Given the description of an element on the screen output the (x, y) to click on. 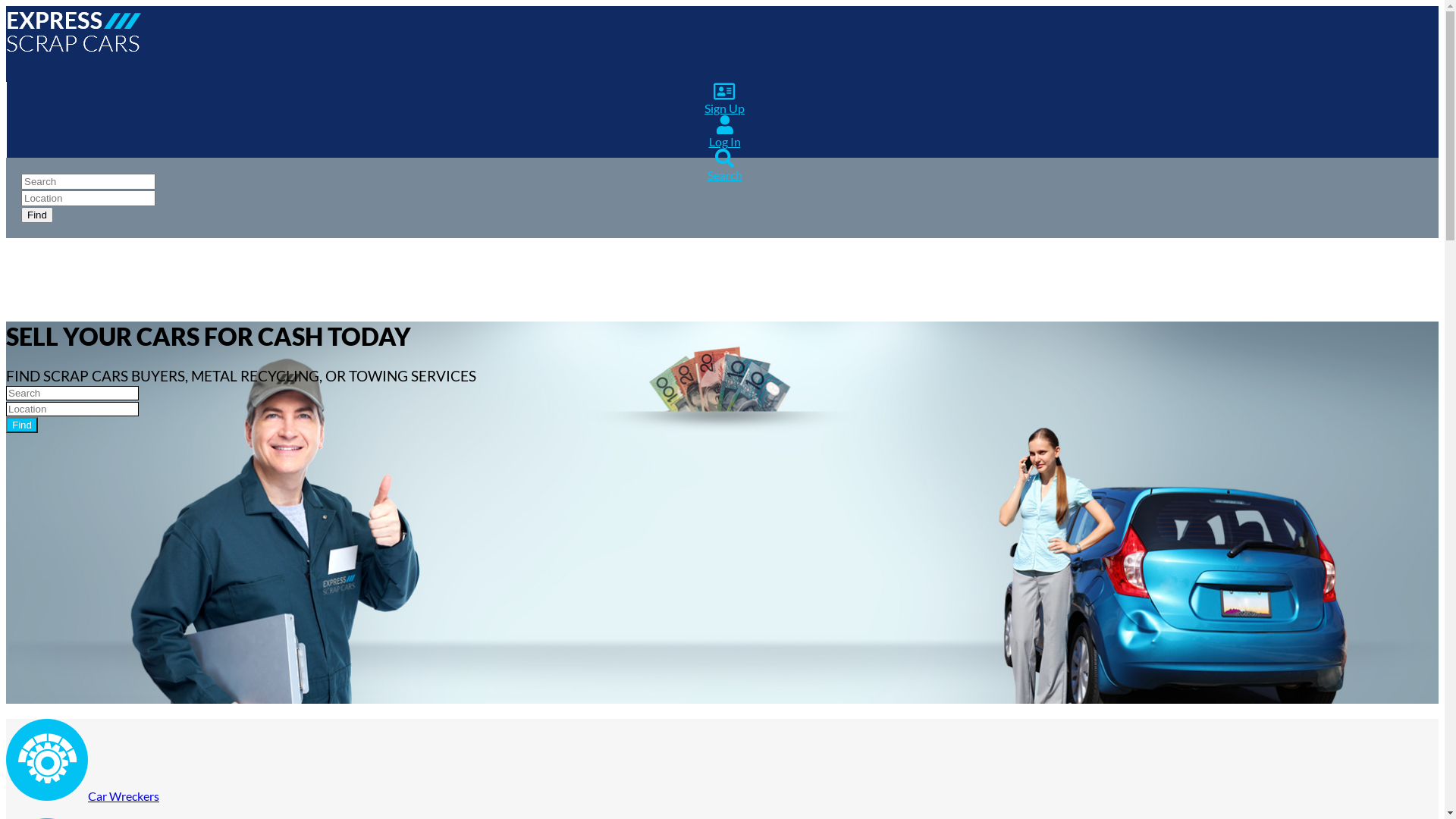
Car Wreckers Element type: text (82, 795)
Log In Element type: text (718, 131)
Sign Up Element type: text (718, 98)
Search Element type: text (718, 165)
Find Element type: text (37, 214)
Find Element type: text (21, 425)
Home Element type: hover (73, 50)
